Given the description of an element on the screen output the (x, y) to click on. 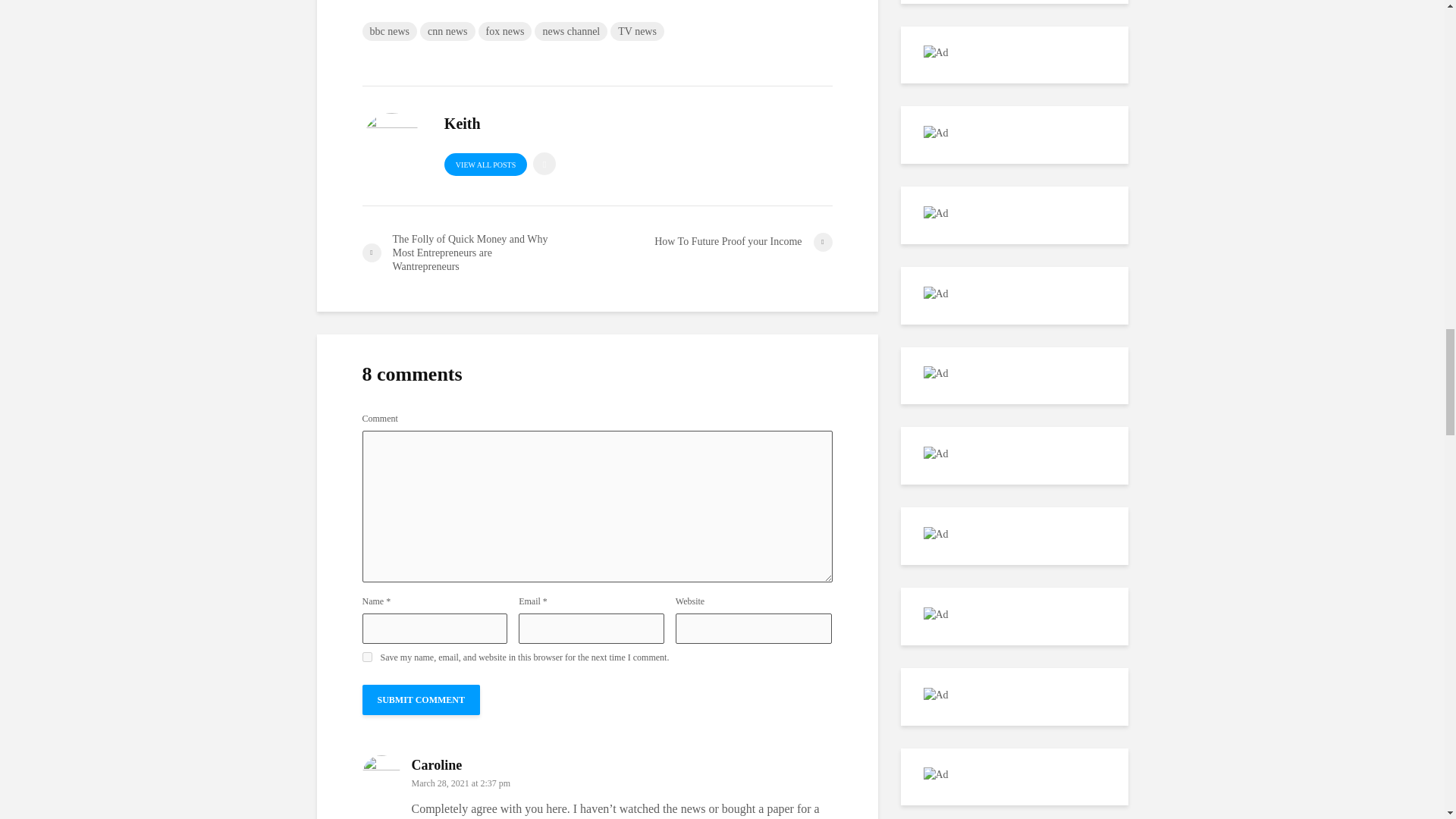
VIEW ALL POSTS (485, 164)
fox news (504, 31)
Submit Comment (421, 699)
TV news (636, 31)
news channel (570, 31)
bbc news (389, 31)
cnn news (448, 31)
yes (367, 656)
